Given the description of an element on the screen output the (x, y) to click on. 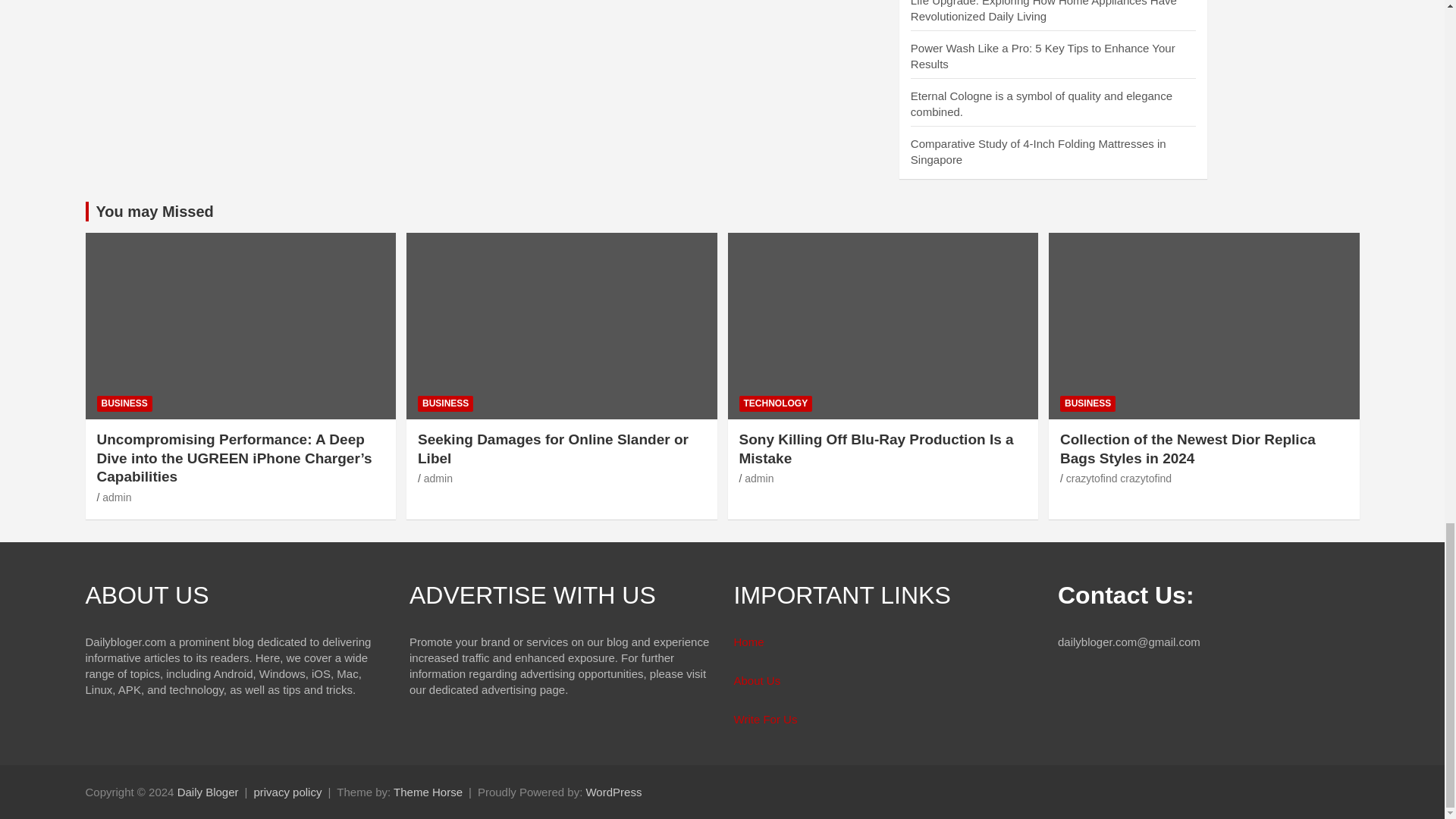
WordPress (613, 791)
Daily Bloger (207, 791)
Theme Horse (428, 791)
